Given the description of an element on the screen output the (x, y) to click on. 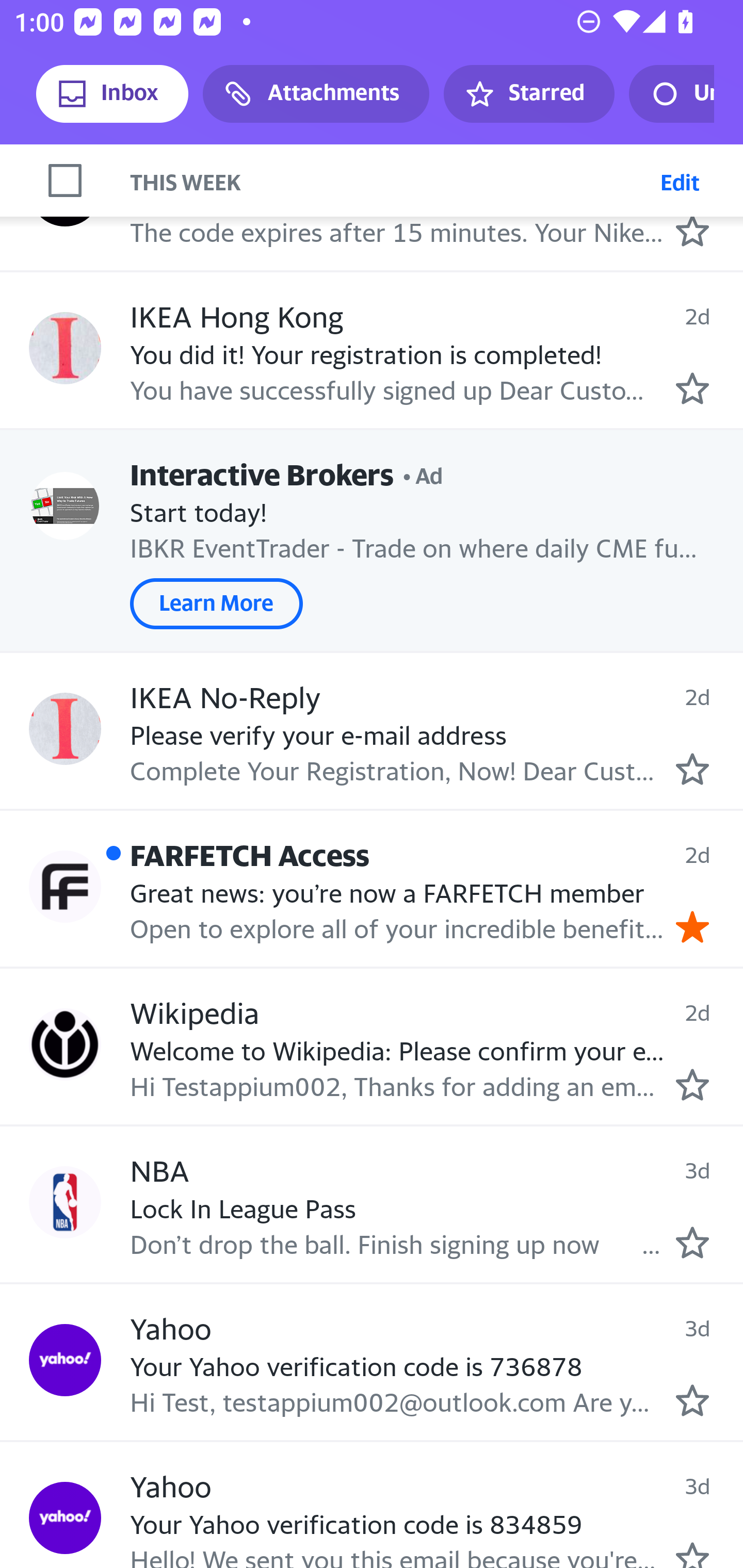
Attachments (315, 93)
Starred (528, 93)
Unread (671, 93)
Mark as starred. (692, 231)
Profile
IKEA Hong Kong (64, 348)
Mark as starred. (692, 388)
Profile
IKEA No-Reply (64, 729)
Mark as starred. (692, 769)
Profile
FARFETCH Access (64, 885)
Remove star. (692, 927)
Profile
Wikipedia (64, 1044)
Mark as starred. (692, 1084)
Profile
NBA (64, 1202)
Mark as starred. (692, 1242)
Profile
Yahoo (64, 1359)
Mark as starred. (692, 1400)
Profile
Yahoo (64, 1517)
Mark as starred. (692, 1553)
